Given the description of an element on the screen output the (x, y) to click on. 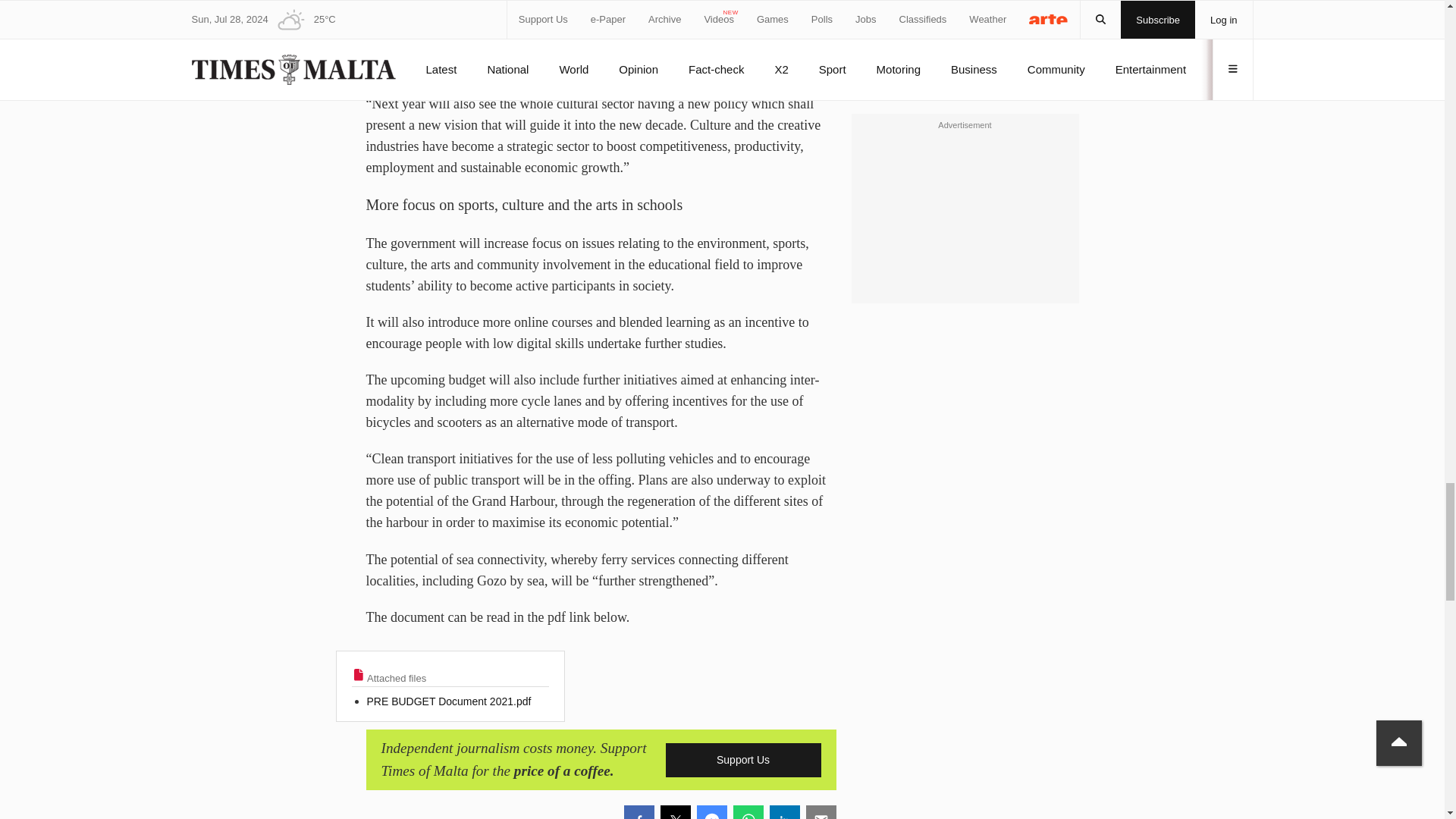
PRE BUDGET Document 2021.pdf (457, 703)
Support Us (743, 759)
